Given the description of an element on the screen output the (x, y) to click on. 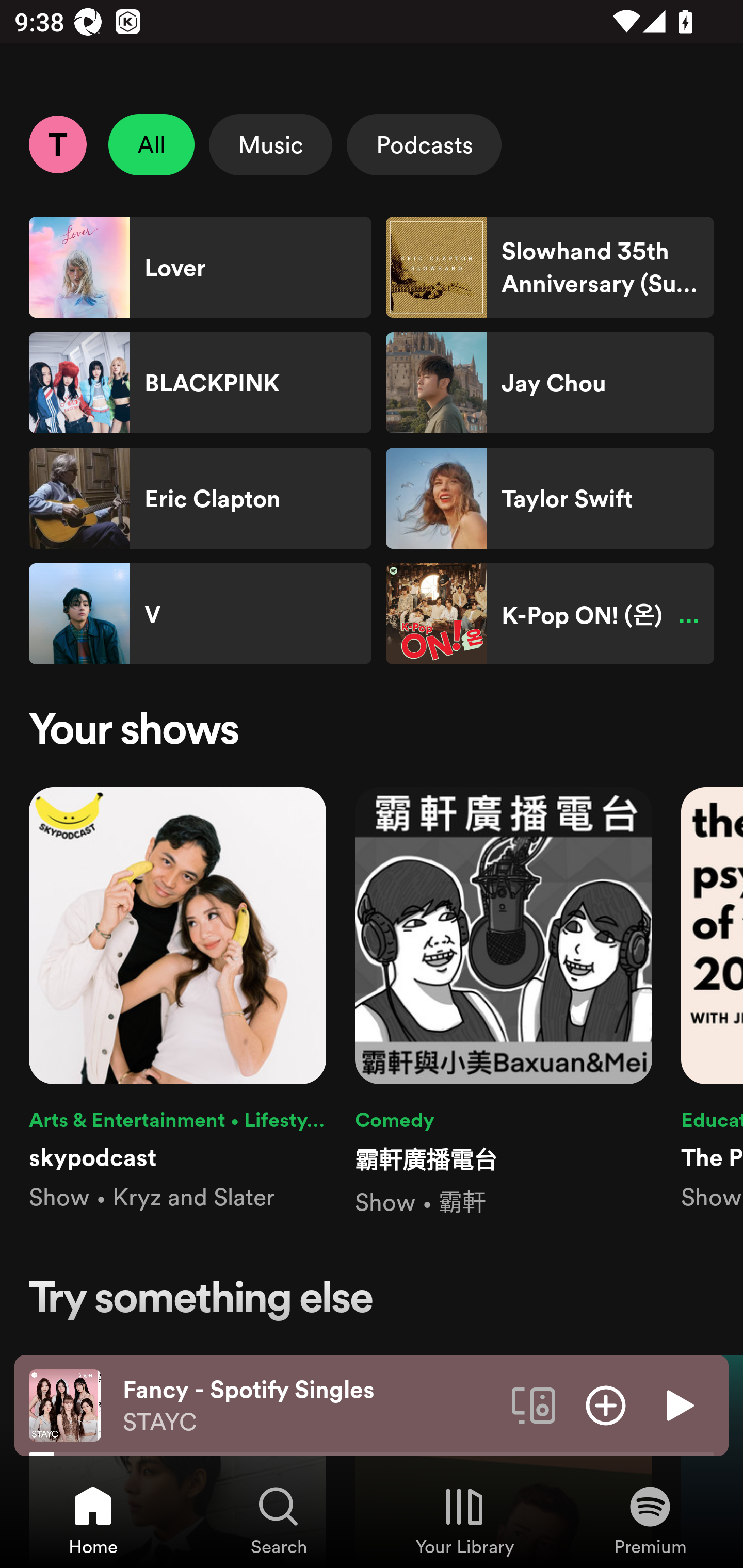
Profile (57, 144)
All Unselect All (151, 144)
Music Select Music (270, 144)
Podcasts Select Podcasts (423, 144)
Lover Shortcut Lover (199, 267)
BLACKPINK Shortcut BLACKPINK (199, 382)
Jay Chou Shortcut Jay Chou (549, 382)
Eric Clapton Shortcut Eric Clapton (199, 498)
Taylor Swift Shortcut Taylor Swift (549, 498)
V Shortcut V (199, 613)
K-Pop ON! (온) Shortcut K-Pop ON! (온) Paused (549, 613)
Comedy 霸軒廣播電台 Show • 霸軒 (503, 1002)
Fancy - Spotify Singles STAYC (309, 1405)
The cover art of the currently playing track (64, 1404)
Connect to a device. Opens the devices menu (533, 1404)
Add item (605, 1404)
Play (677, 1404)
Home, Tab 1 of 4 Home Home (92, 1519)
Search, Tab 2 of 4 Search Search (278, 1519)
Your Library, Tab 3 of 4 Your Library Your Library (464, 1519)
Premium, Tab 4 of 4 Premium Premium (650, 1519)
